Given the description of an element on the screen output the (x, y) to click on. 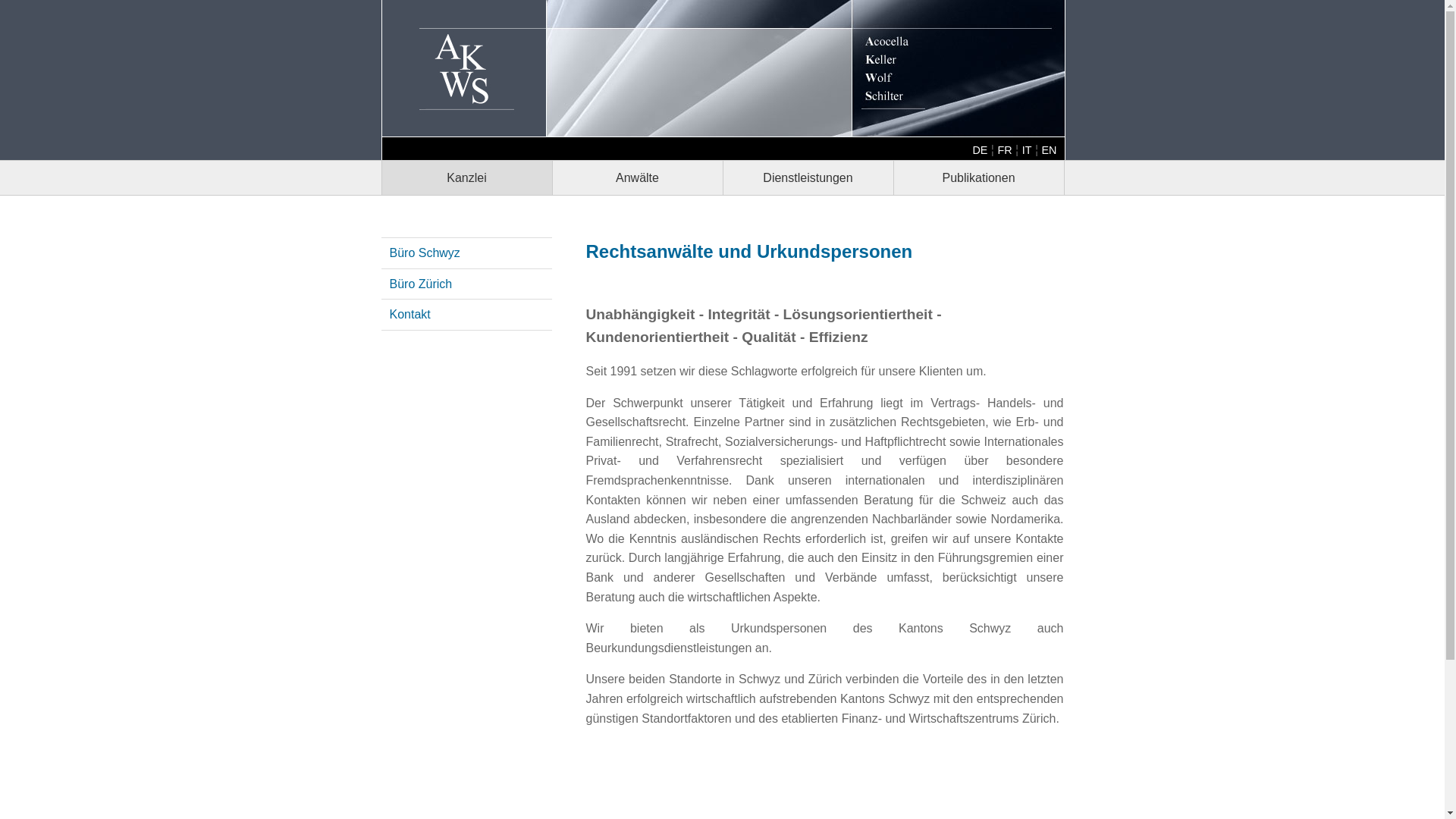
AKWS Law Header Element type: hover (723, 68)
Kontakt Element type: text (409, 313)
Dienstleistungen Element type: text (808, 177)
Kanzlei Element type: text (467, 177)
Publikationen Element type: text (978, 177)
IT Element type: text (1027, 150)
EN Element type: text (1049, 150)
DE Element type: text (979, 150)
FR Element type: text (1004, 150)
